Given the description of an element on the screen output the (x, y) to click on. 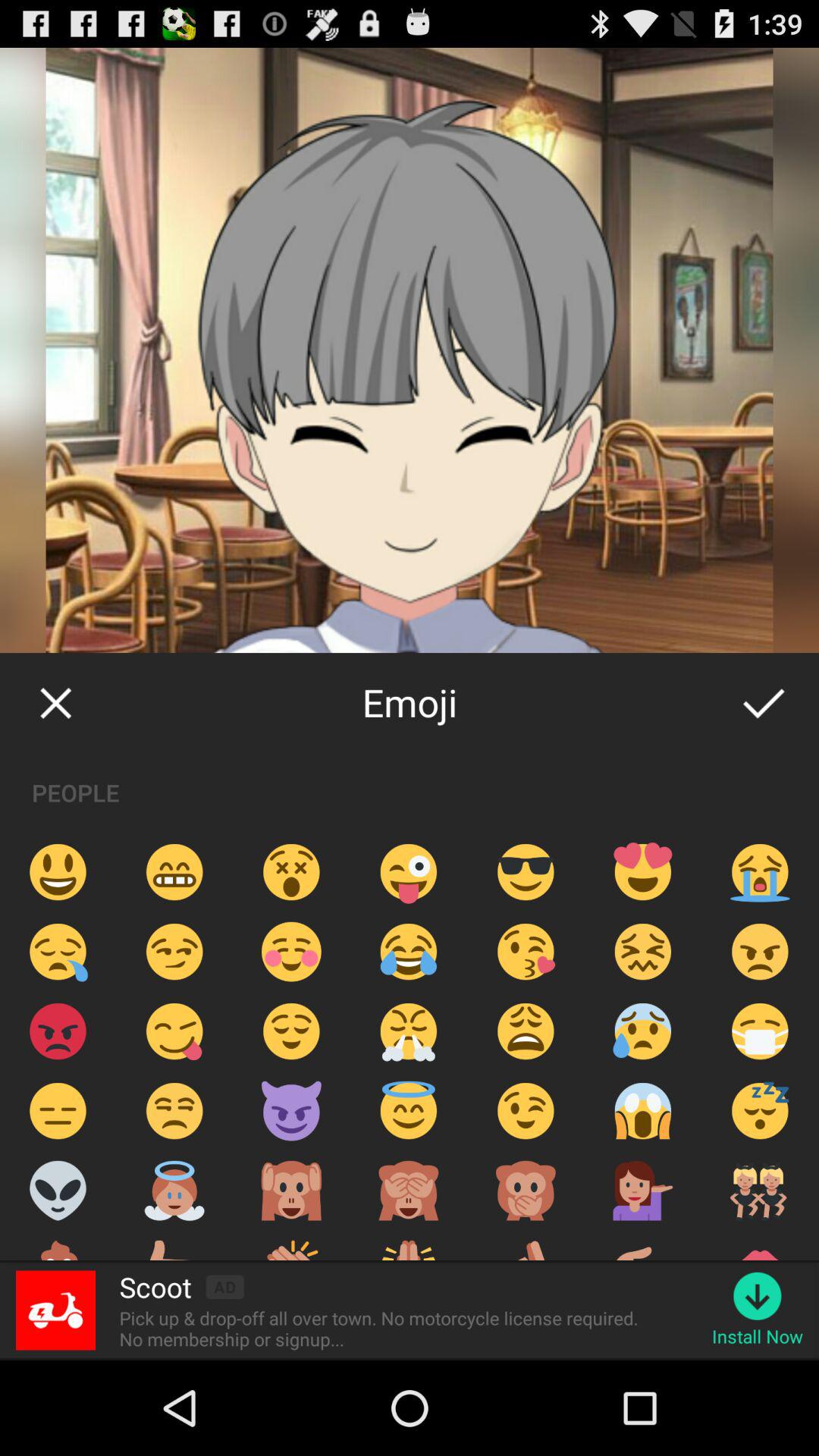
select icon to the right of emoji item (763, 702)
